Given the description of an element on the screen output the (x, y) to click on. 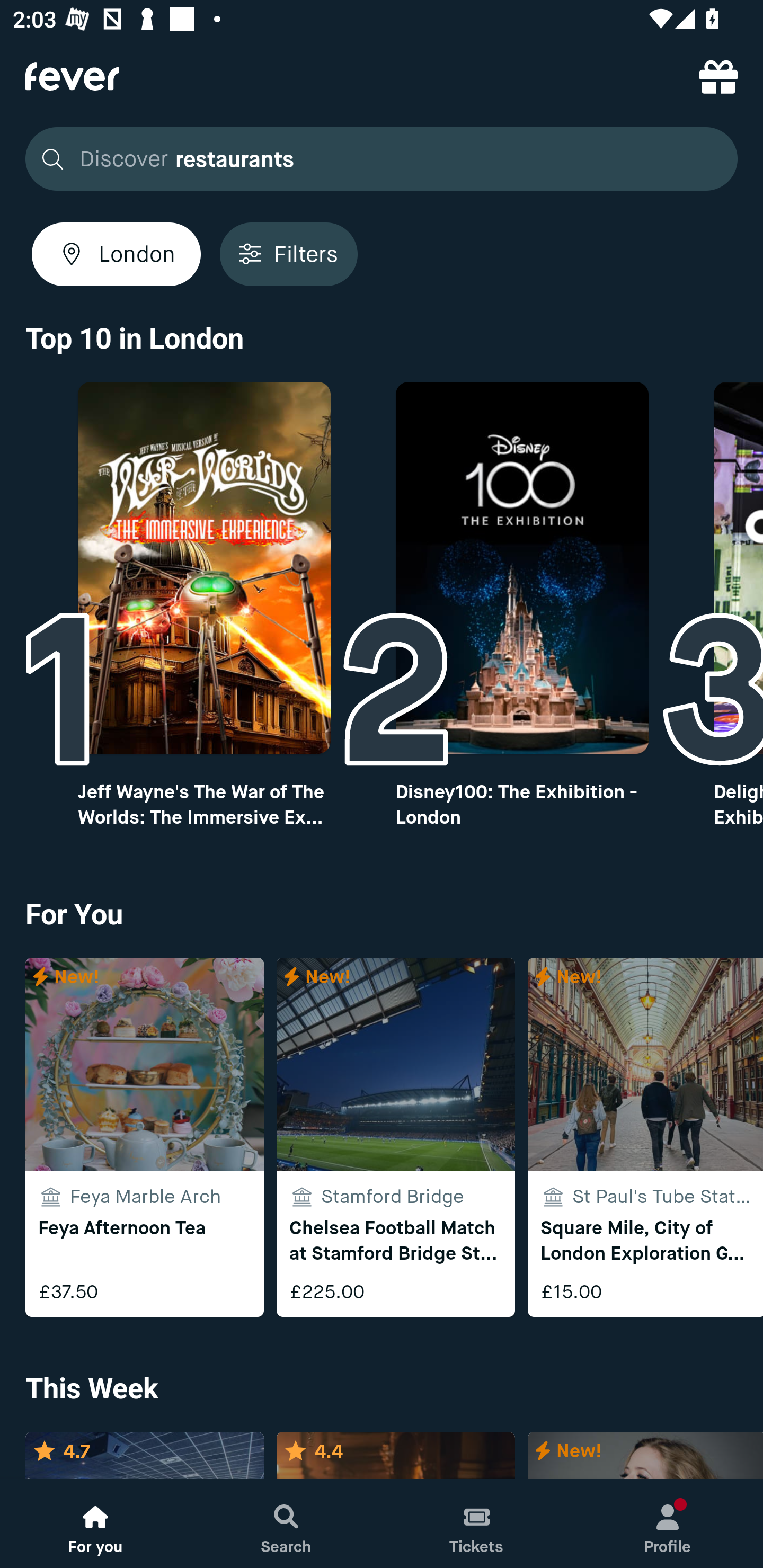
referral (718, 75)
Discover restaurants (381, 158)
Discover restaurants (376, 158)
London (116, 253)
Filters (288, 253)
Top10 image (203, 568)
Top10 image (521, 568)
Search (285, 1523)
Tickets (476, 1523)
Profile, New notification Profile (667, 1523)
